Given the description of an element on the screen output the (x, y) to click on. 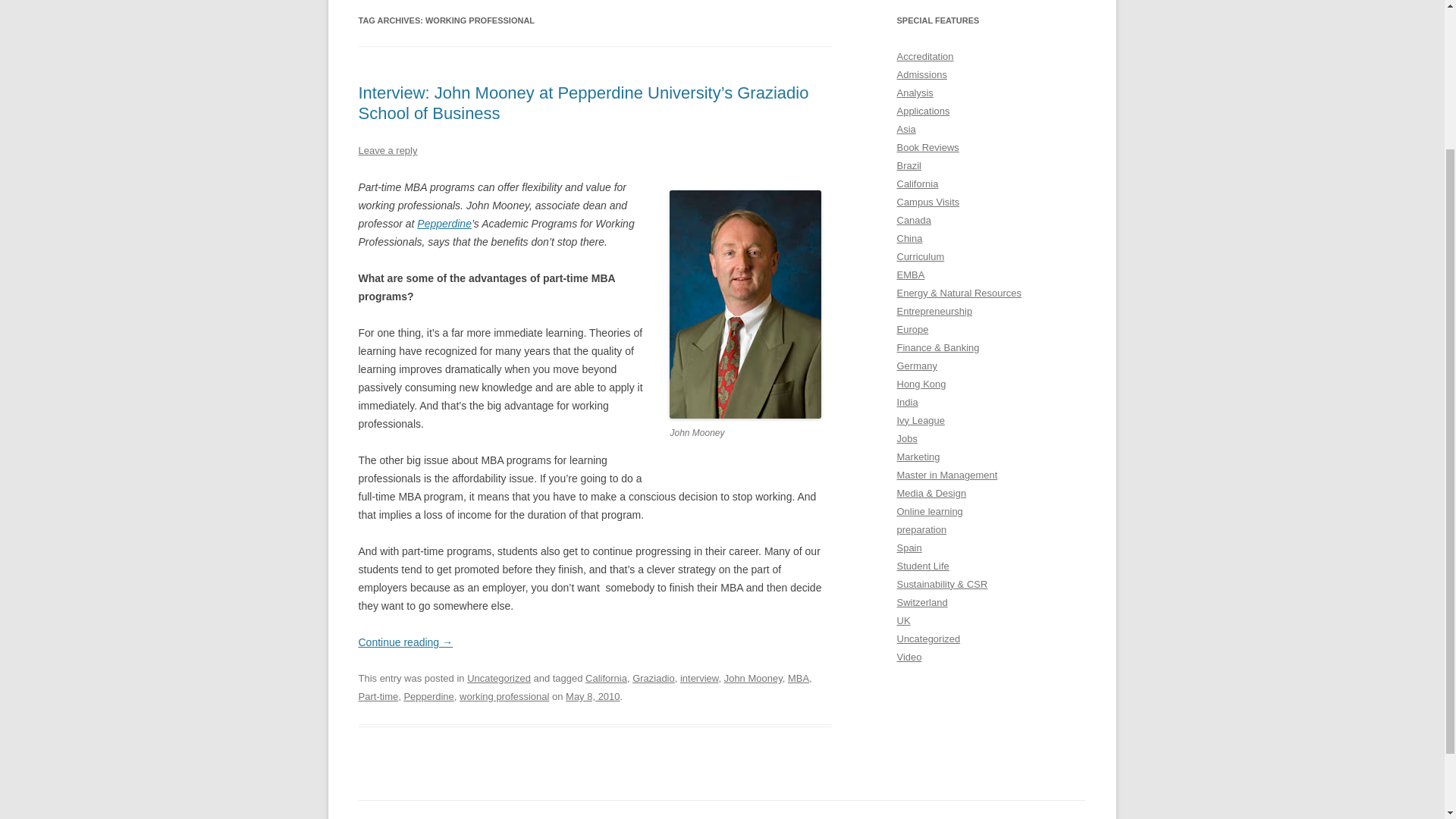
Entrepreneurship (934, 310)
May 8, 2010 (593, 696)
Analysis (914, 92)
Campus Visits (927, 202)
Book Reviews (927, 147)
Brazil (908, 165)
California (916, 183)
Leave a reply (387, 150)
Pepperdine (427, 696)
5:00 pm (593, 696)
